Given the description of an element on the screen output the (x, y) to click on. 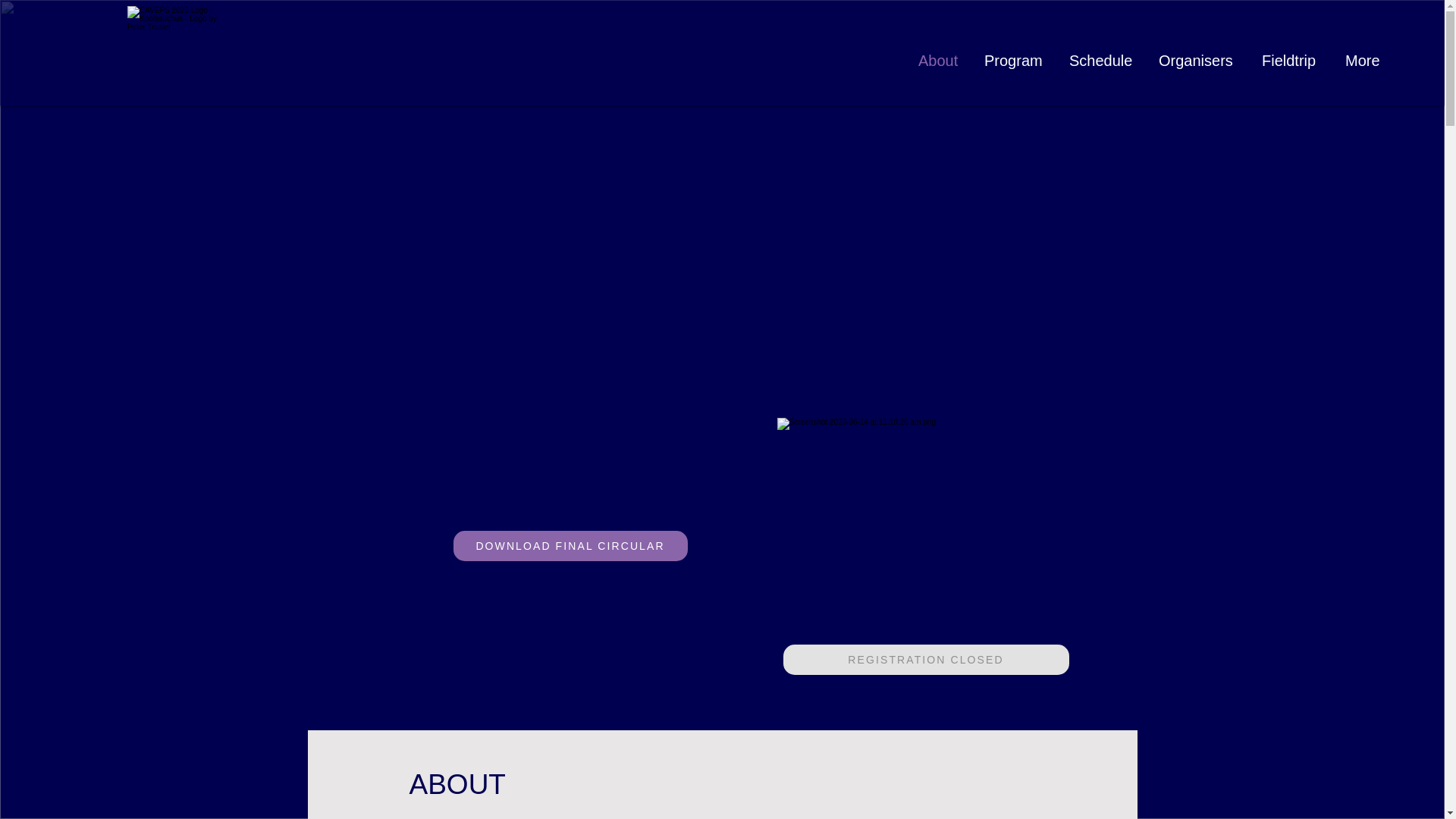
REGISTRATION CLOSED (925, 659)
About (939, 60)
Schedule (1102, 60)
Program (1015, 60)
DOWNLOAD FINAL CIRCULAR (569, 545)
Organisers (1198, 60)
Fieldtrip (1291, 60)
